Given the description of an element on the screen output the (x, y) to click on. 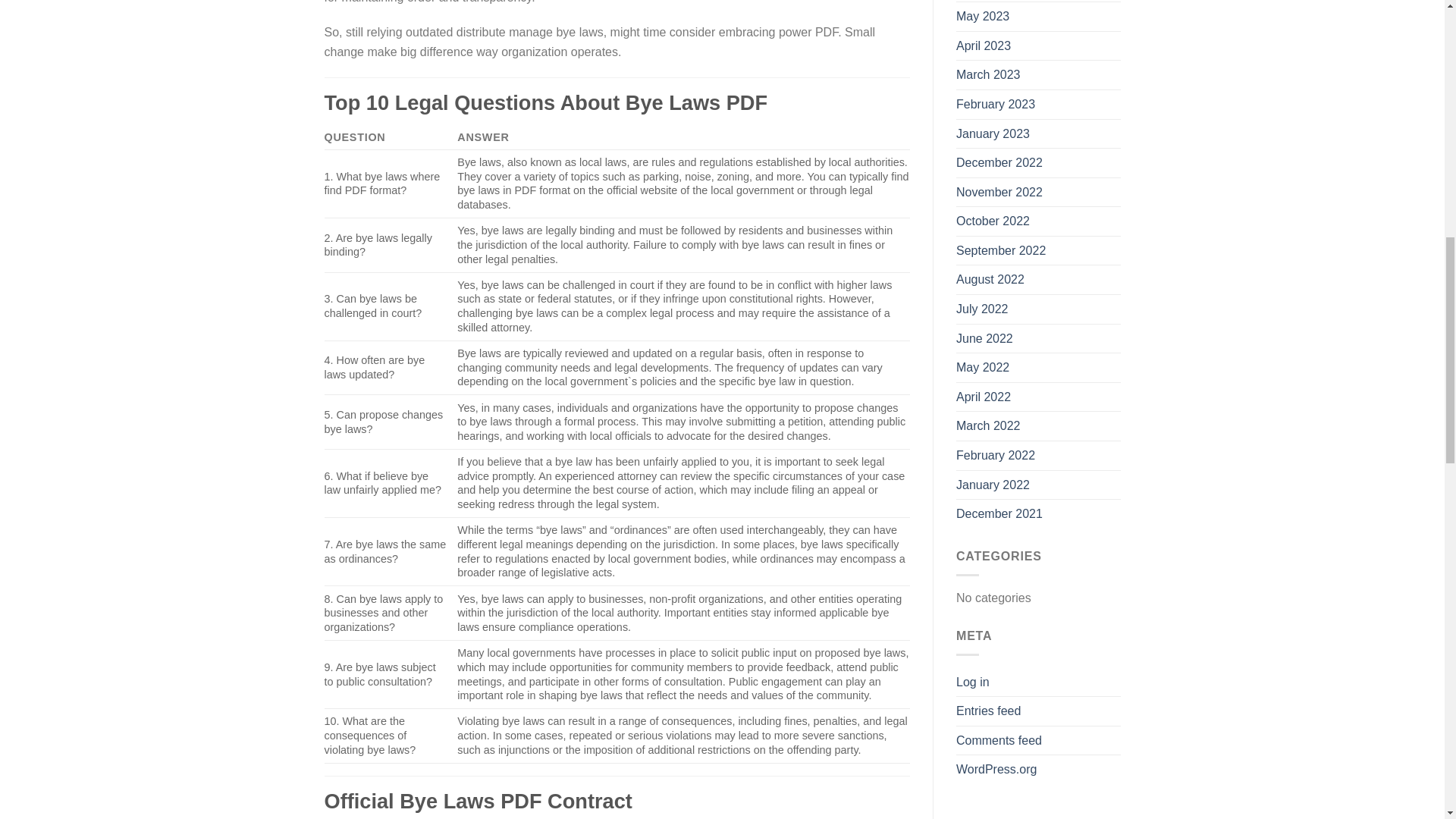
March 2023 (988, 74)
February 2023 (995, 104)
September 2022 (1000, 250)
November 2022 (999, 192)
August 2022 (990, 279)
December 2022 (999, 162)
June 2023 (984, 1)
October 2022 (992, 221)
April 2023 (983, 45)
June 2022 (984, 338)
